Given the description of an element on the screen output the (x, y) to click on. 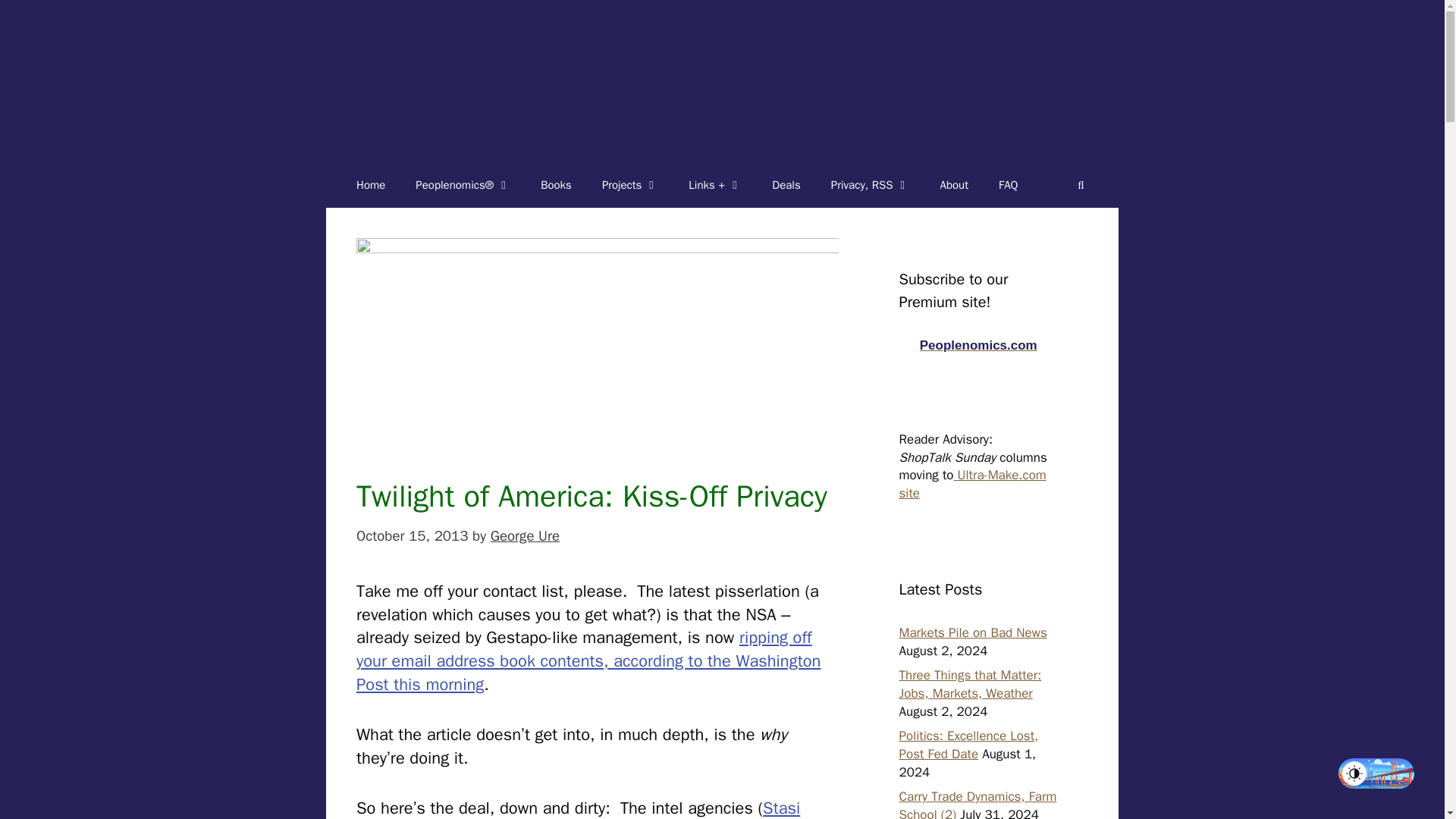
Projects (629, 185)
type: generatepress (370, 185)
Home (370, 185)
image.png - UrbanSurvival - 190.92.156.129 (597, 340)
View all posts by George Ure (524, 536)
Books (555, 185)
